Given the description of an element on the screen output the (x, y) to click on. 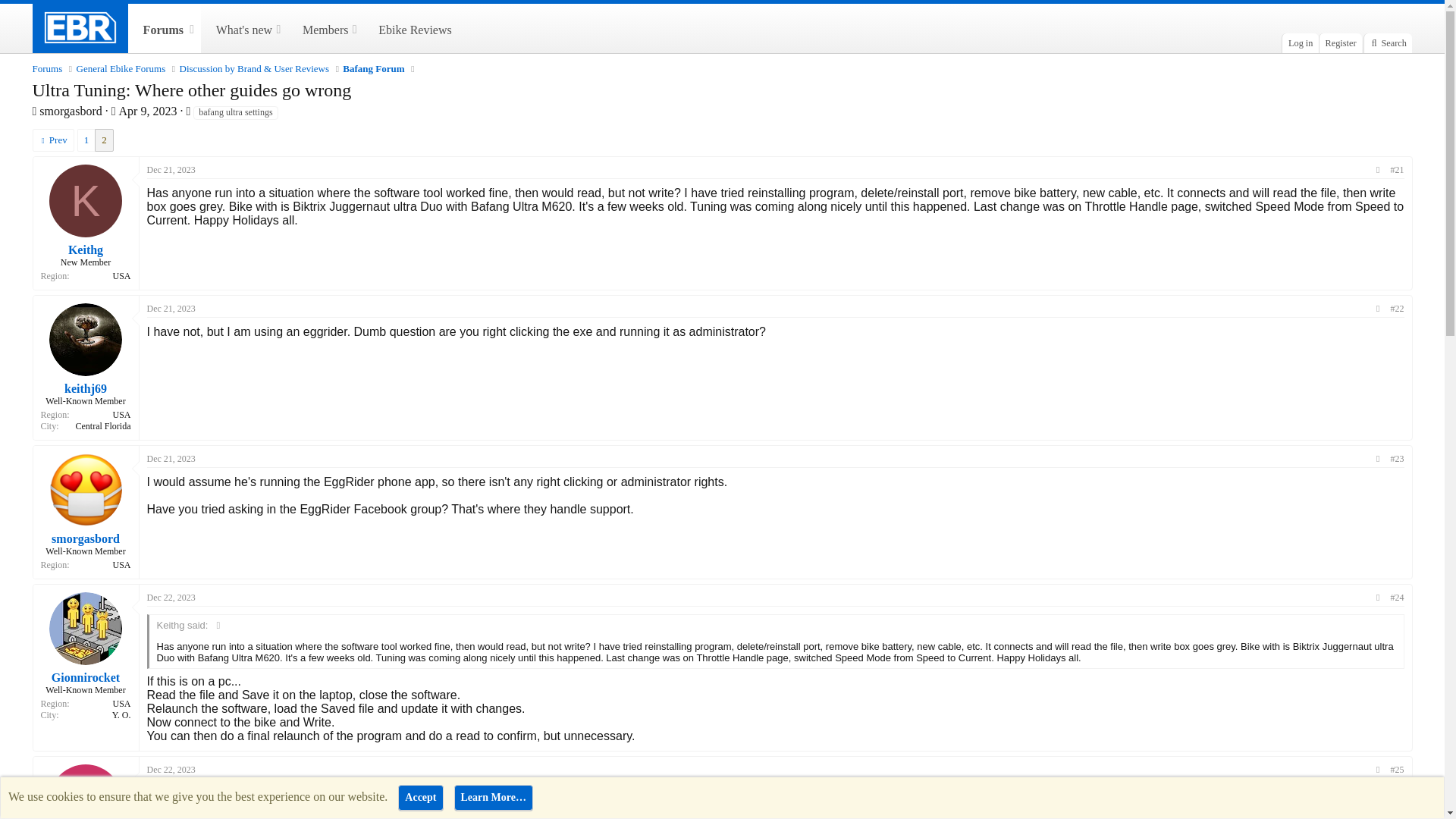
What's new (236, 28)
Start date (114, 111)
bafang ultra settings (235, 112)
Forums (157, 28)
Apr 9, 2023 (148, 110)
Bafang Forum (373, 68)
Prev (53, 140)
Dec 21, 2023 at 10:42 PM (171, 458)
Register (1340, 43)
Members (317, 28)
Dec 21, 2023 at 5:27 PM (171, 308)
1 (245, 28)
Dec 22, 2023 at 8:55 AM (87, 140)
Electric Bike Reviews (171, 769)
